Given the description of an element on the screen output the (x, y) to click on. 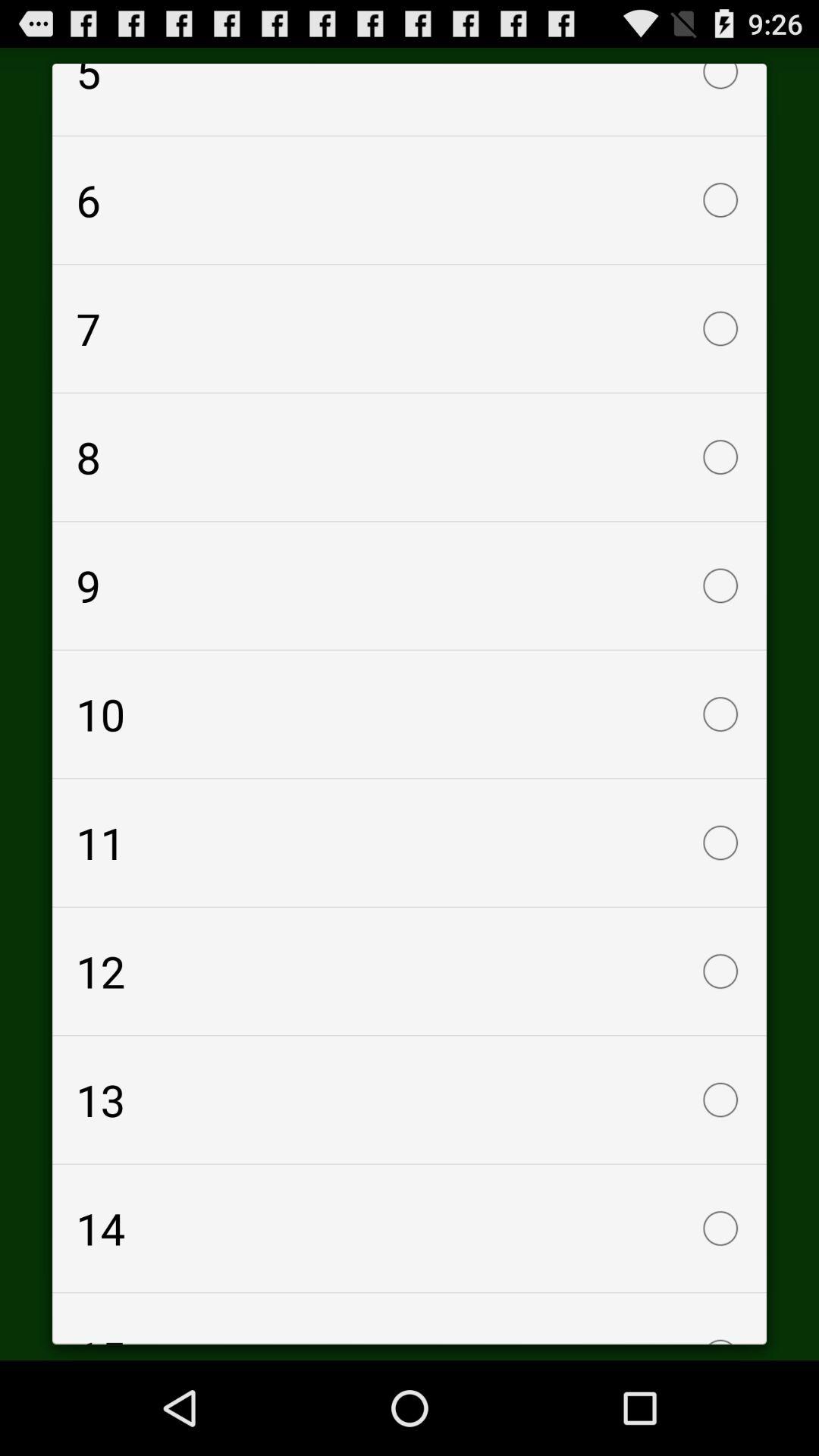
click the checkbox below 7 (409, 456)
